Given the description of an element on the screen output the (x, y) to click on. 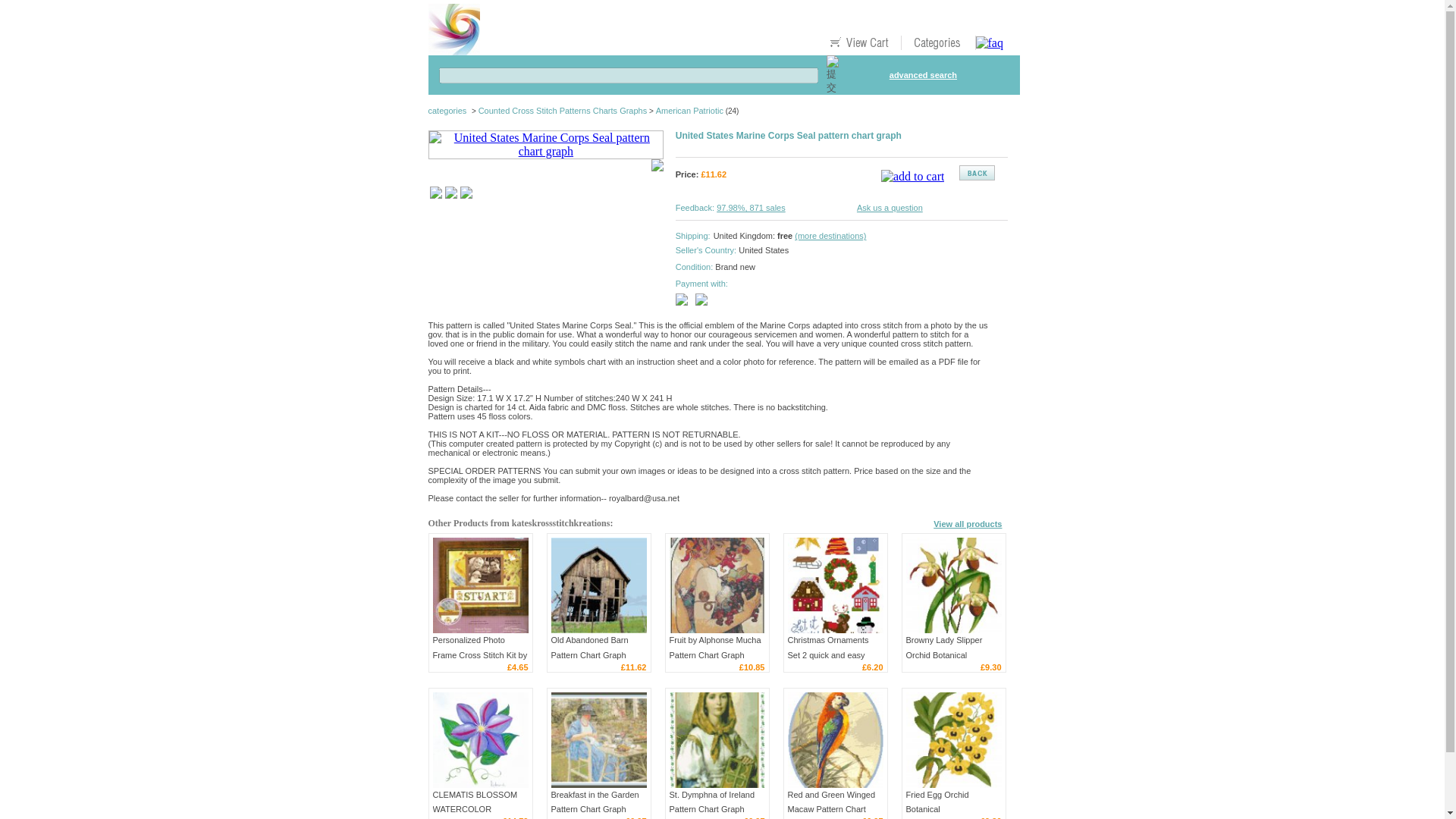
St. Dymphna of Ireland Pattern Chart Graph (711, 802)
Browny Lady Slipper Orchid Botanical (953, 585)
Fried Egg Orchid Botanical (936, 802)
Old Abandoned Barn Pattern Chart Graph (598, 585)
Old Abandoned Barn Pattern Chart Graph (588, 647)
Old Abandoned Barn Pattern Chart Graph (588, 647)
advanced search (922, 74)
St. Dymphna of Ireland Pattern Chart Graph (716, 739)
Ask us a question (890, 207)
Browny Lady Slipper Orchid Botanical (943, 647)
